Given the description of an element on the screen output the (x, y) to click on. 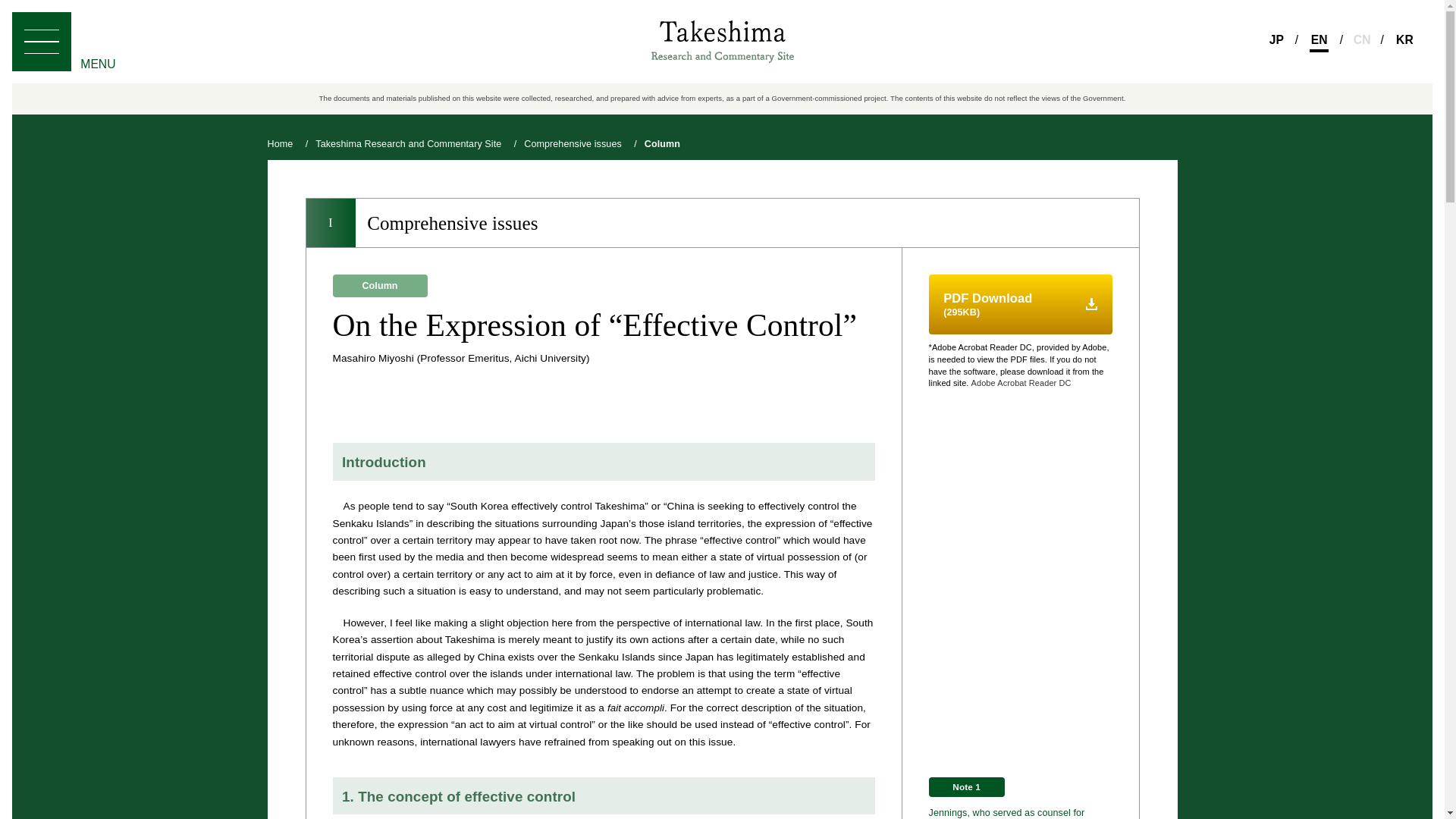
Home (279, 143)
KR (1403, 41)
CN (1361, 41)
JP (1275, 41)
Takeshima Research and Commentary Site (407, 143)
Comprehensive issues (572, 143)
Column (662, 143)
Adobe Acrobat Reader DC (1021, 383)
EN (1317, 41)
